Given the description of an element on the screen output the (x, y) to click on. 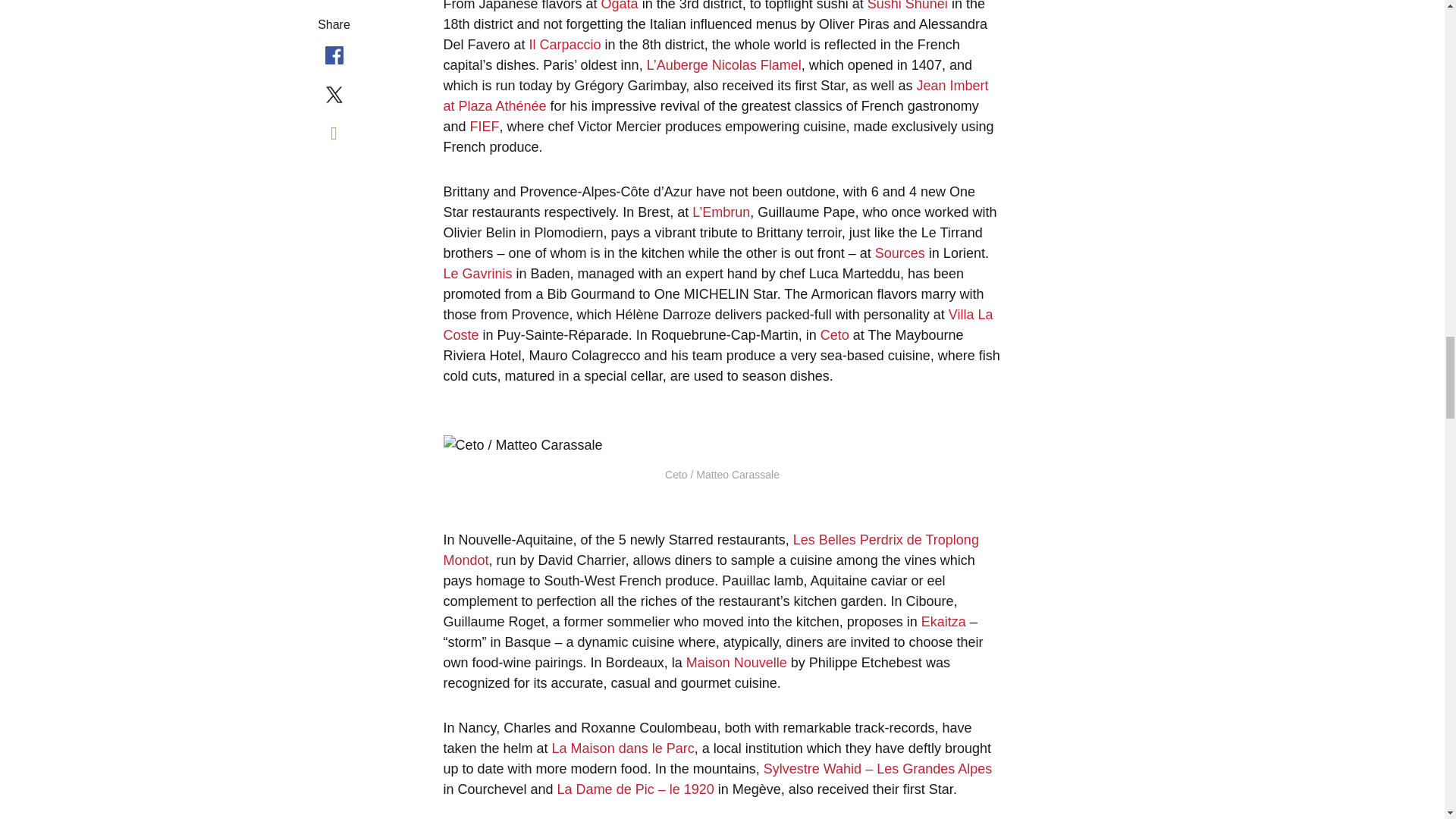
Ogata (621, 5)
Villa La Coste (717, 325)
Le Gavrinis (477, 273)
Il Carpaccio (565, 44)
Sources (901, 253)
Sushi Shunei (907, 5)
FIEF (484, 126)
